Given the description of an element on the screen output the (x, y) to click on. 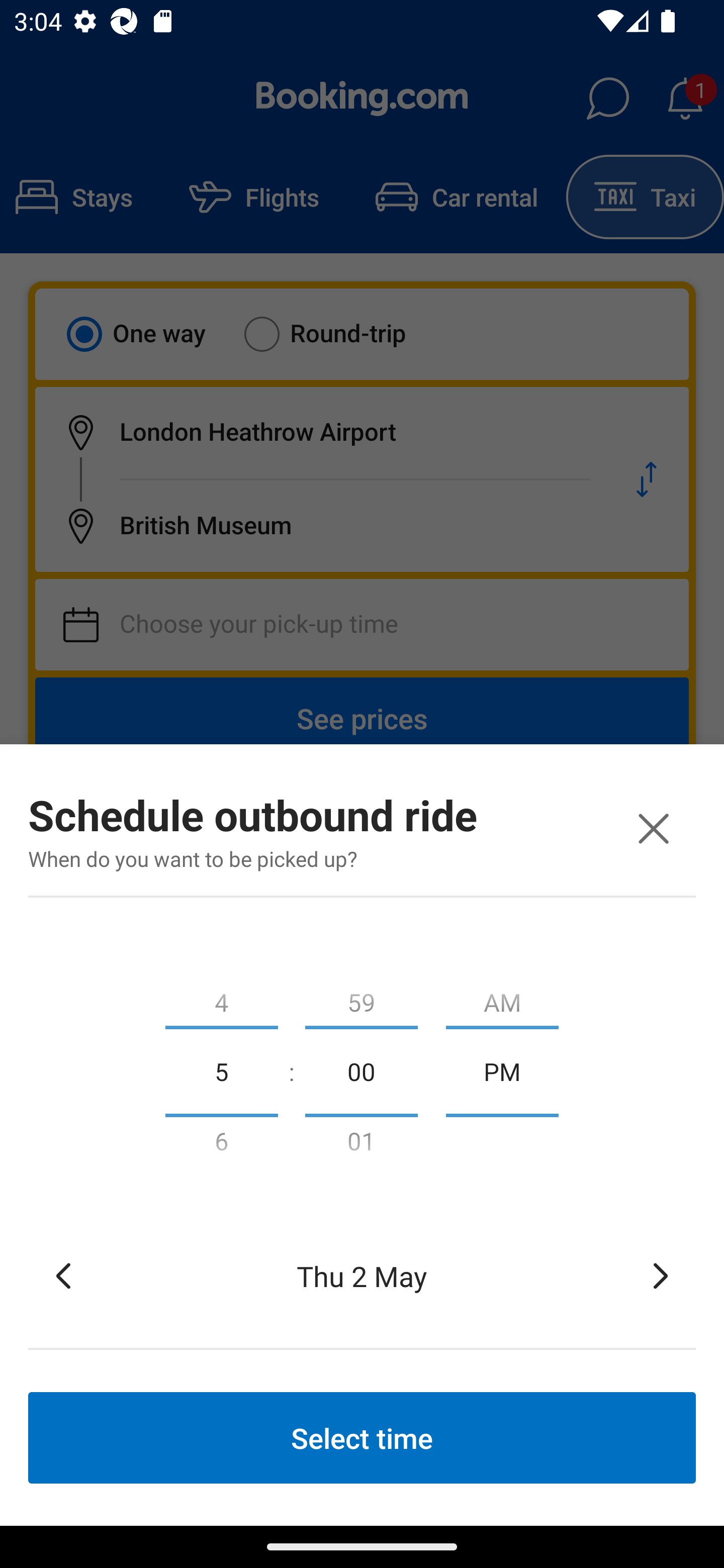
Close window (653, 828)
4 (221, 997)
59 (361, 997)
AM (501, 997)
5 (221, 1070)
00 (361, 1070)
PM (501, 1070)
6 (221, 1144)
01 (361, 1144)
Tap to move back to the previous date (63, 1275)
Tap to move forward to the next date (660, 1275)
Thu 2 May Selected date, Thursday, 2 May (361, 1275)
Select time (361, 1437)
